Given the description of an element on the screen output the (x, y) to click on. 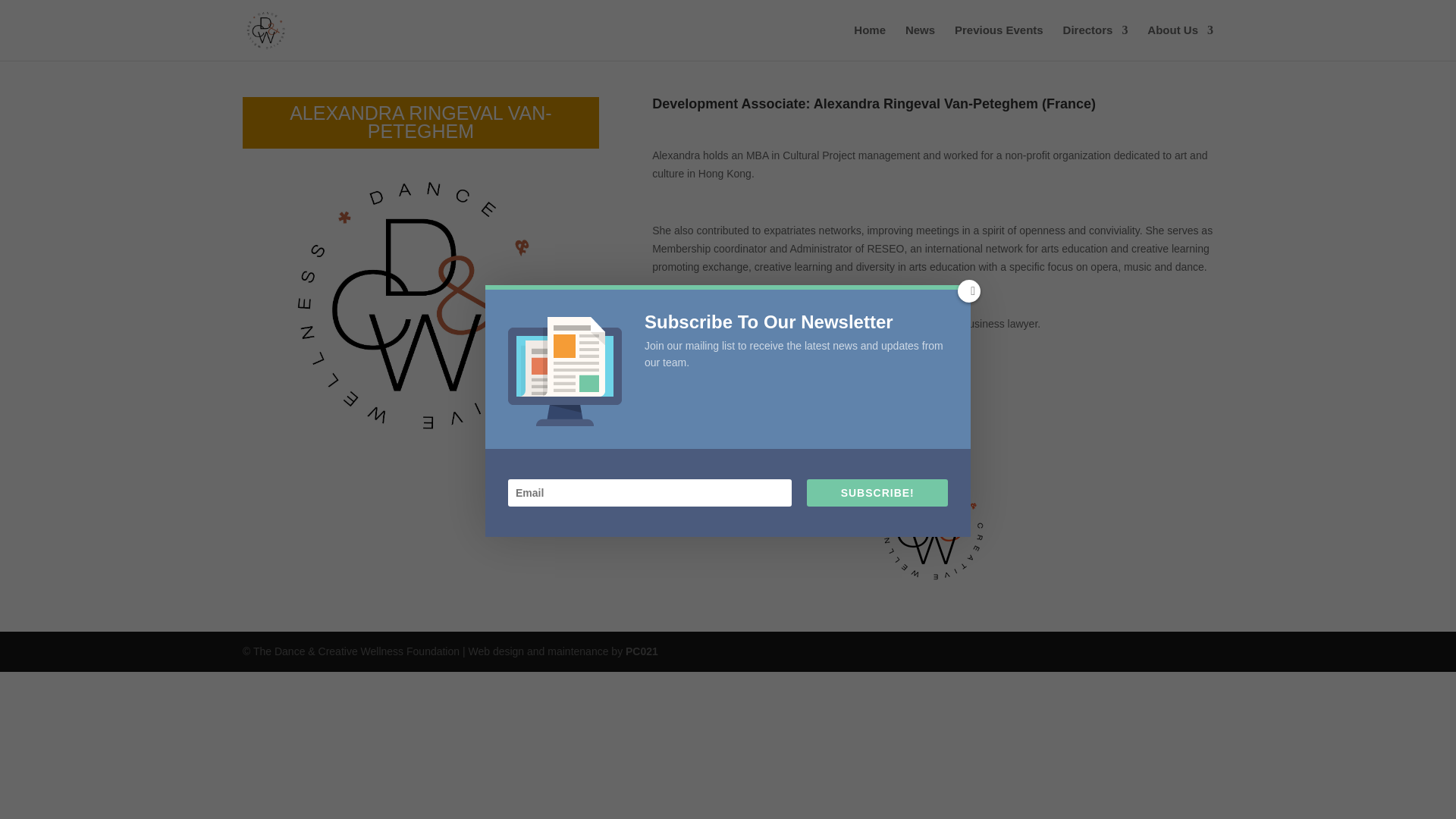
Home (869, 42)
PC021 (642, 651)
About Us (1179, 42)
Directors (1095, 42)
Previous Events (999, 42)
SUBSCRIBE! (876, 492)
